Given the description of an element on the screen output the (x, y) to click on. 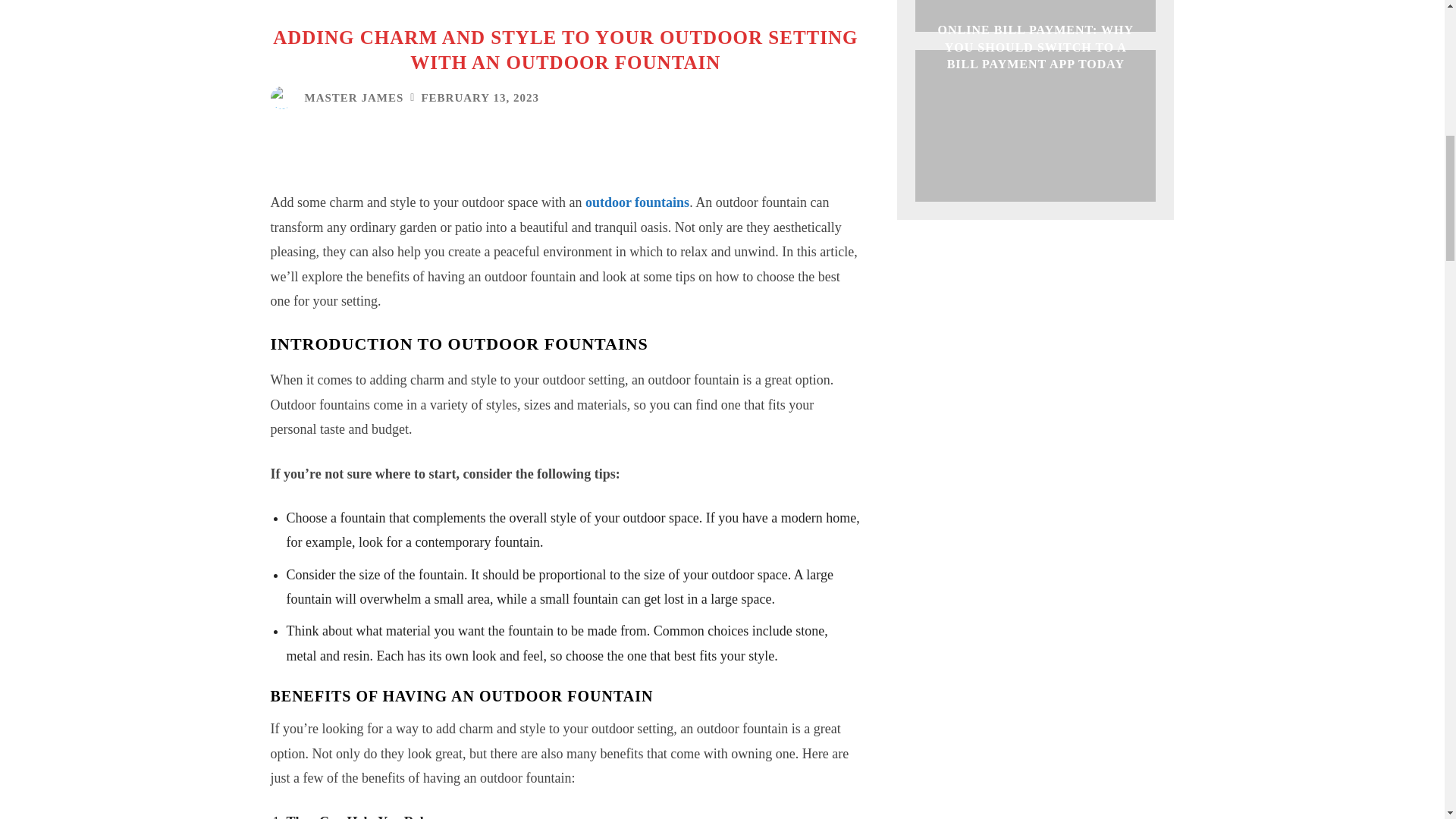
Master James (284, 97)
